Given the description of an element on the screen output the (x, y) to click on. 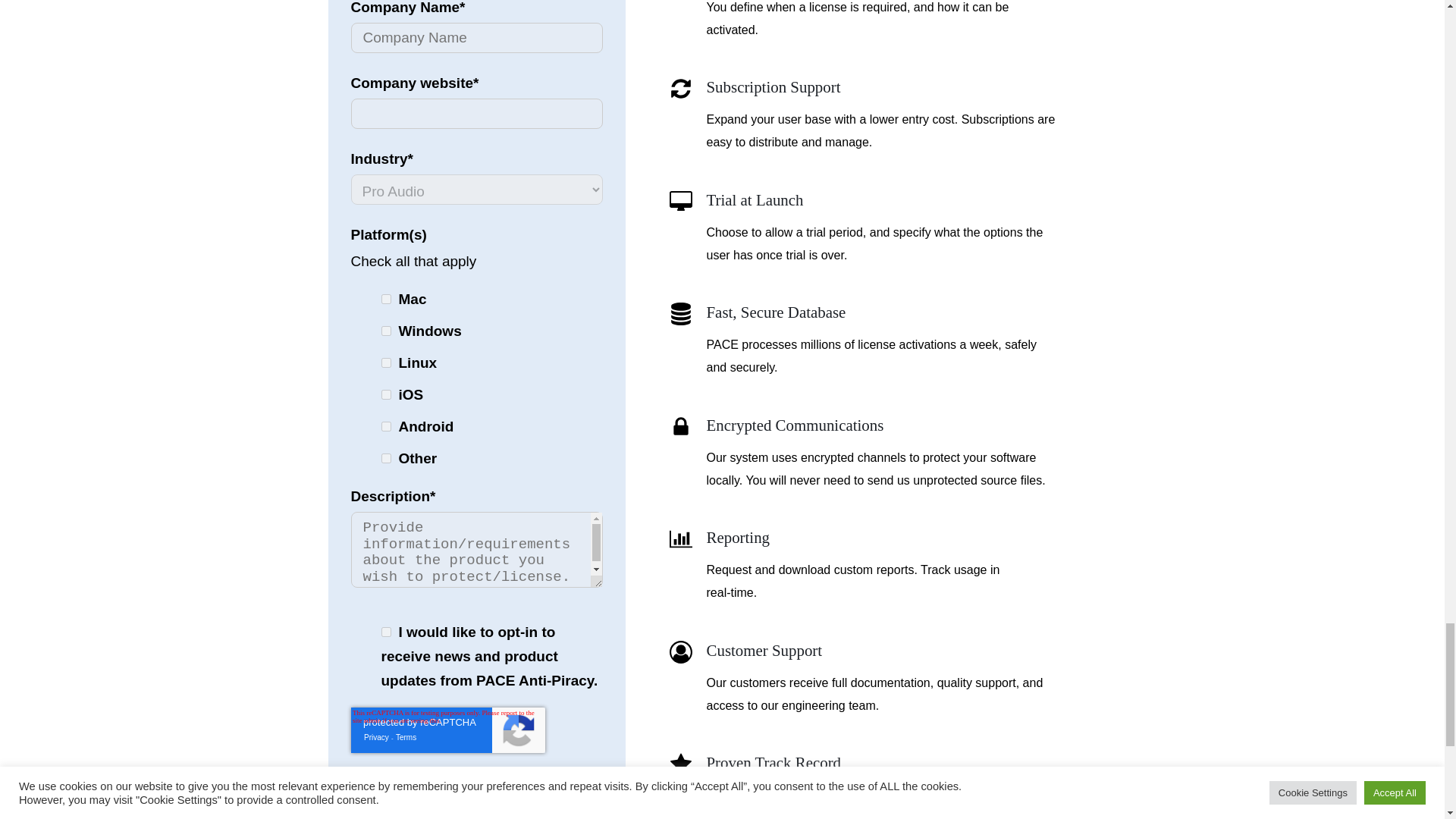
reCAPTCHA (447, 729)
Android (385, 426)
Windows (385, 330)
true (385, 632)
iOS (385, 394)
Submit (387, 784)
Mac (385, 298)
Linux (385, 362)
Other (385, 458)
